Given the description of an element on the screen output the (x, y) to click on. 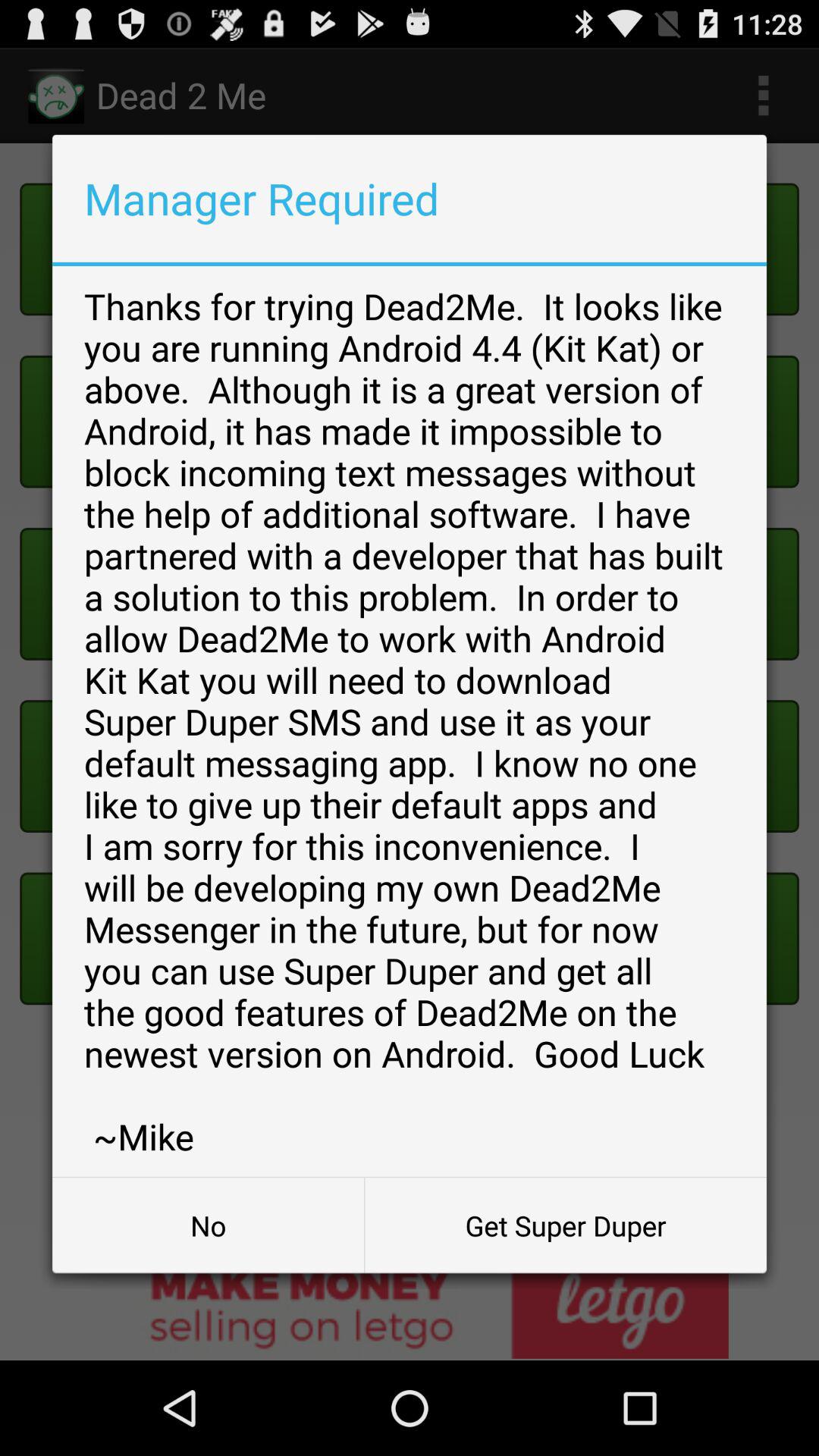
choose the button next to get super duper item (208, 1225)
